Given the description of an element on the screen output the (x, y) to click on. 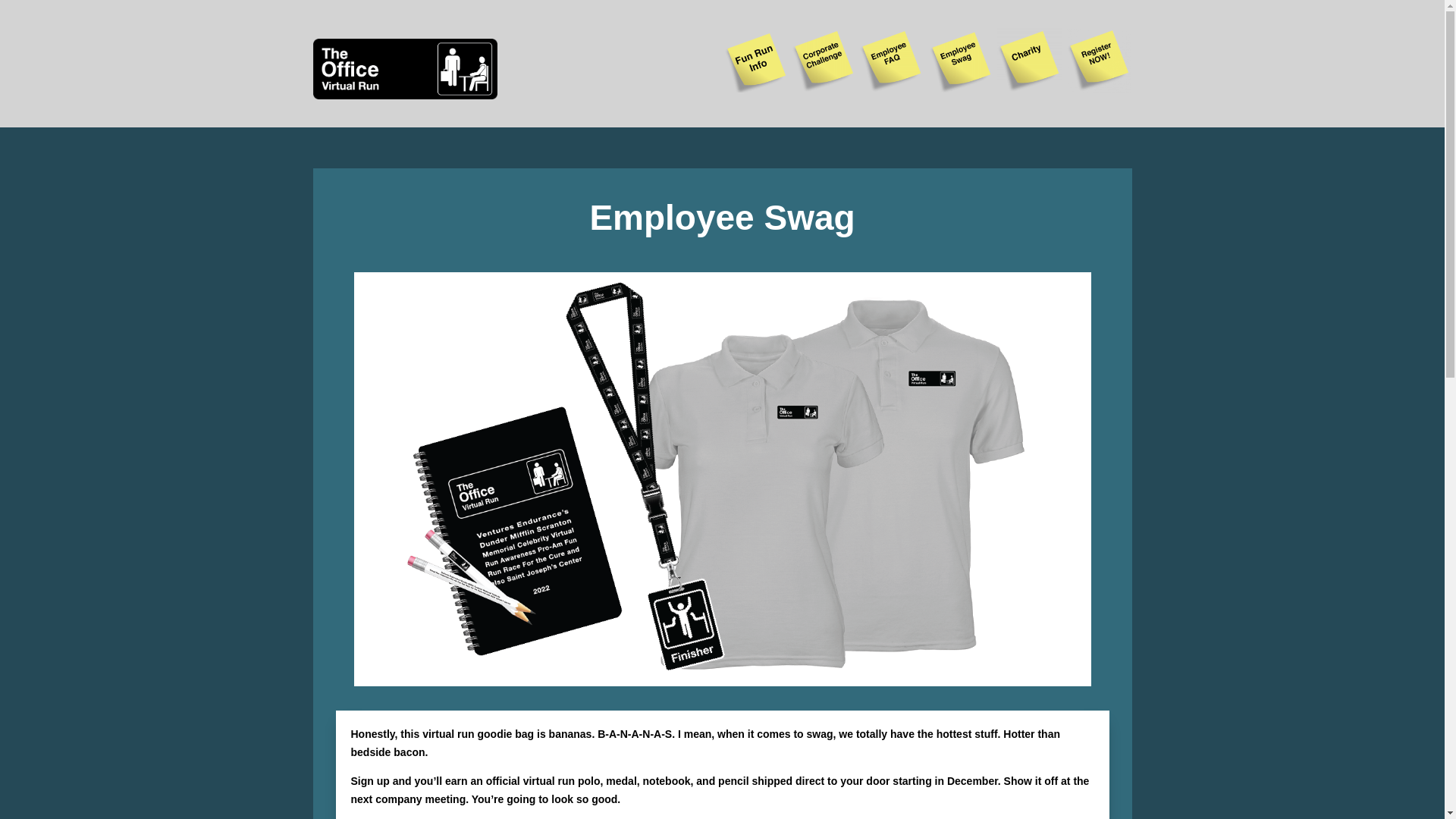
office logo (404, 68)
